Given the description of an element on the screen output the (x, y) to click on. 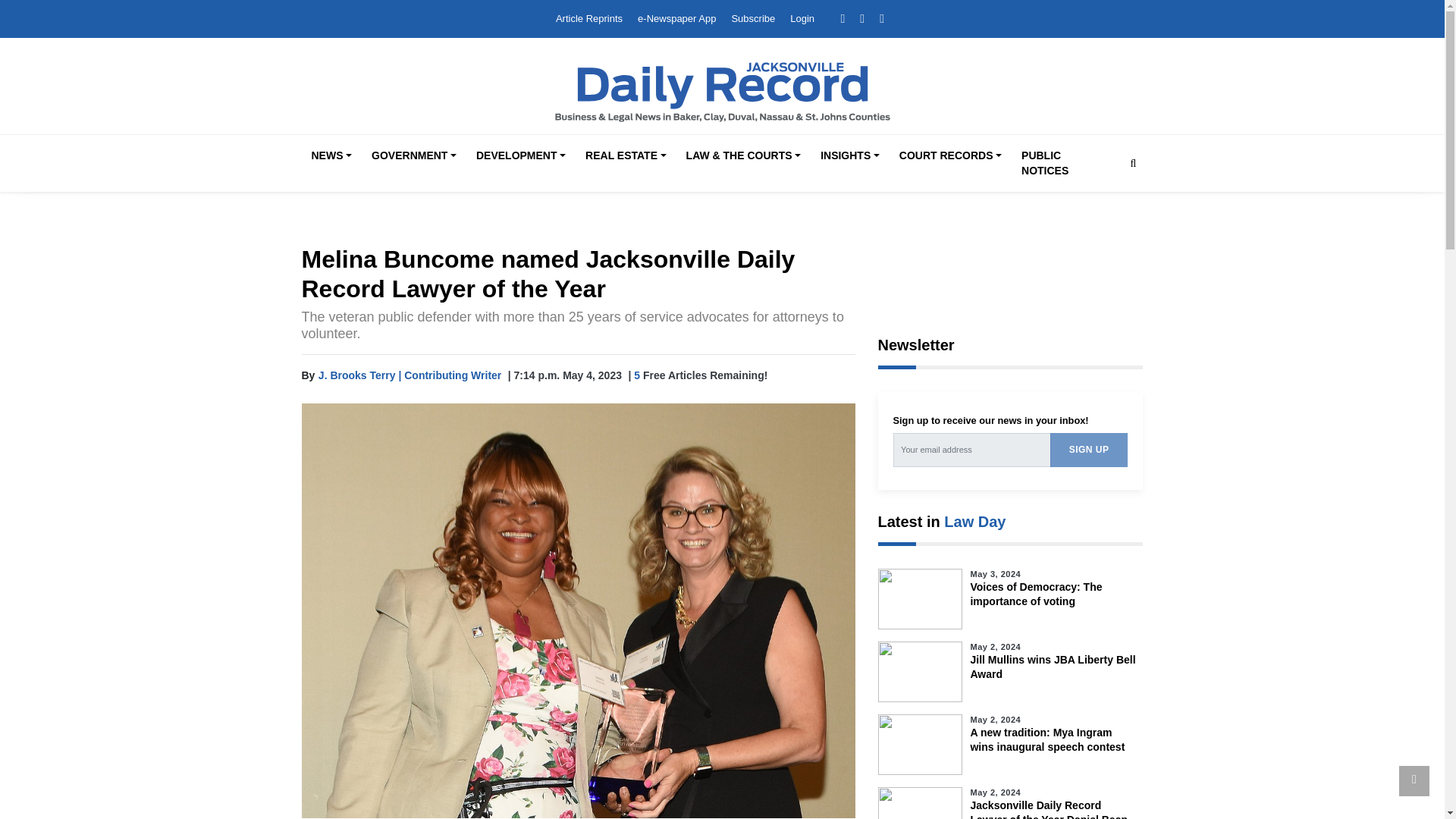
NEWS (330, 156)
Subscribe (752, 18)
Article Reprints (589, 18)
Login (801, 18)
DEVELOPMENT (520, 156)
REAL ESTATE (625, 156)
e-Newspaper App (676, 18)
GOVERNMENT (414, 156)
INSIGHTS (849, 156)
COURT RECORDS (950, 156)
